Given the description of an element on the screen output the (x, y) to click on. 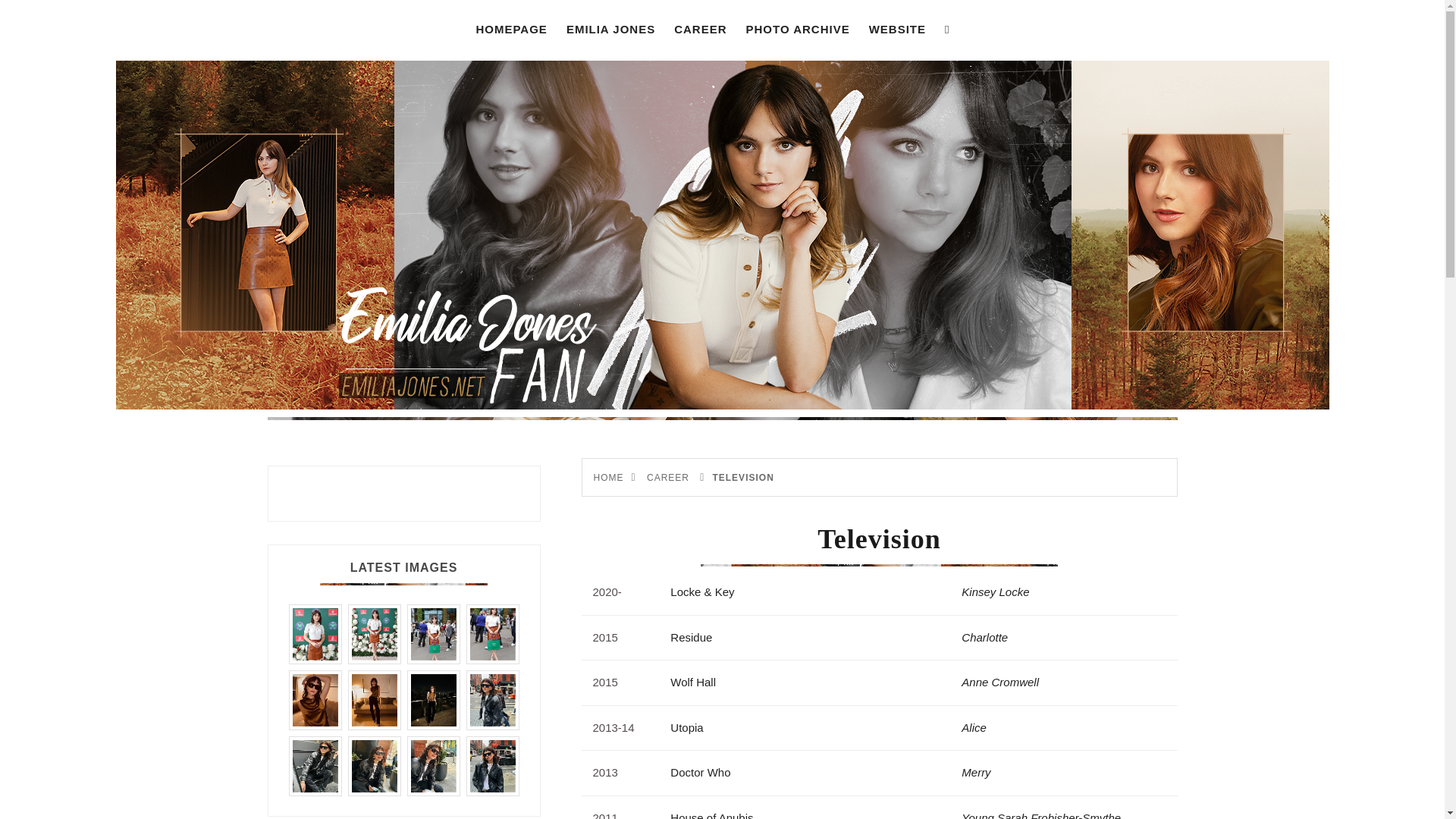
Residue (690, 636)
House of Anubis (710, 815)
Doctor Who (699, 771)
EMILIA JONES (610, 29)
CAREER (667, 477)
PHOTO ARCHIVE (797, 29)
Wolf Hall (692, 681)
Utopia (686, 727)
HOMEPAGE (511, 29)
HOME (607, 477)
